Given the description of an element on the screen output the (x, y) to click on. 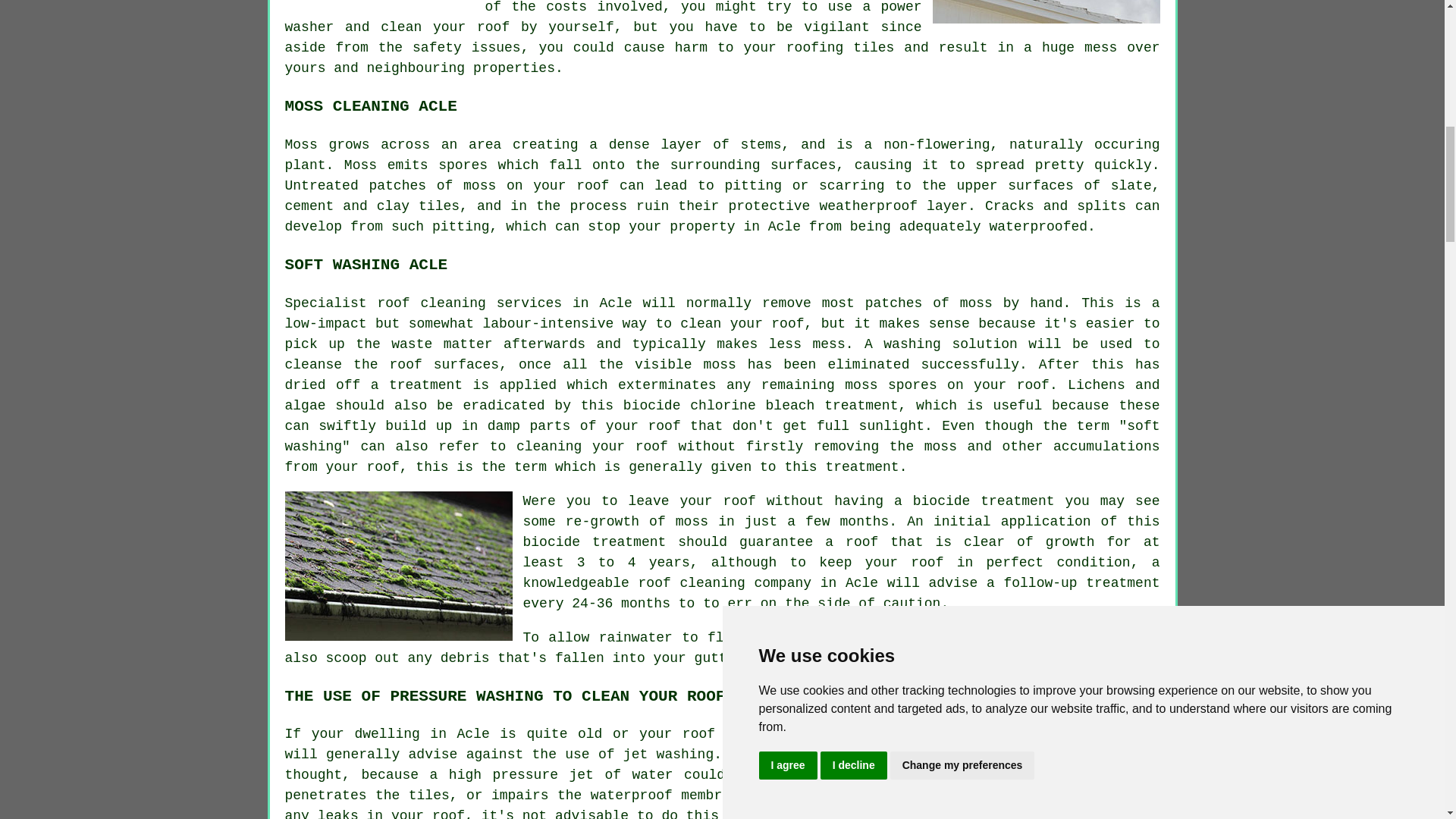
Acle Moss Removal (398, 565)
roof cleaning (930, 636)
Roof Cleaning Acle (1046, 11)
roof cleaning (1013, 734)
